Given the description of an element on the screen output the (x, y) to click on. 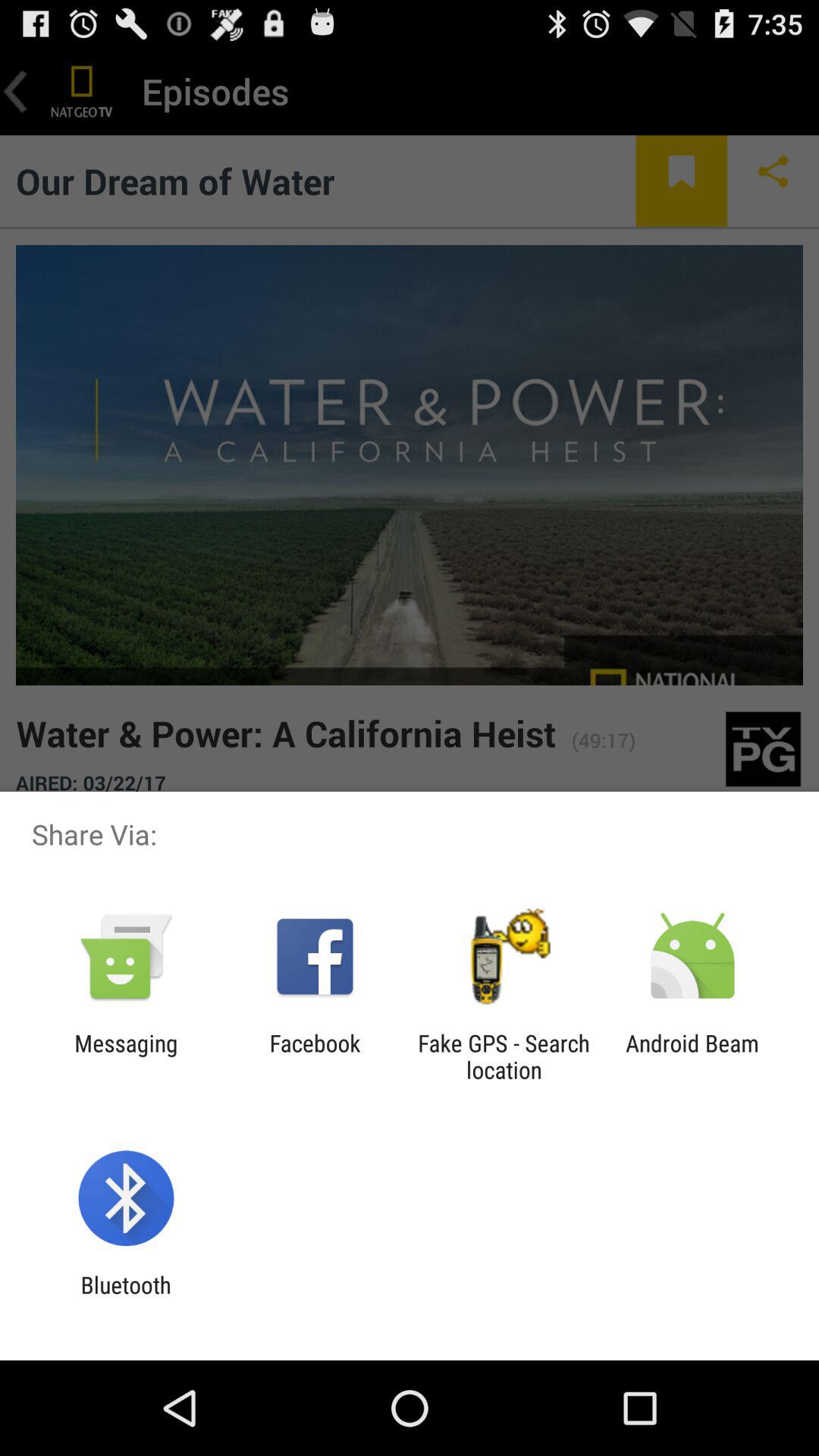
turn on the item to the right of the fake gps search app (692, 1056)
